Given the description of an element on the screen output the (x, y) to click on. 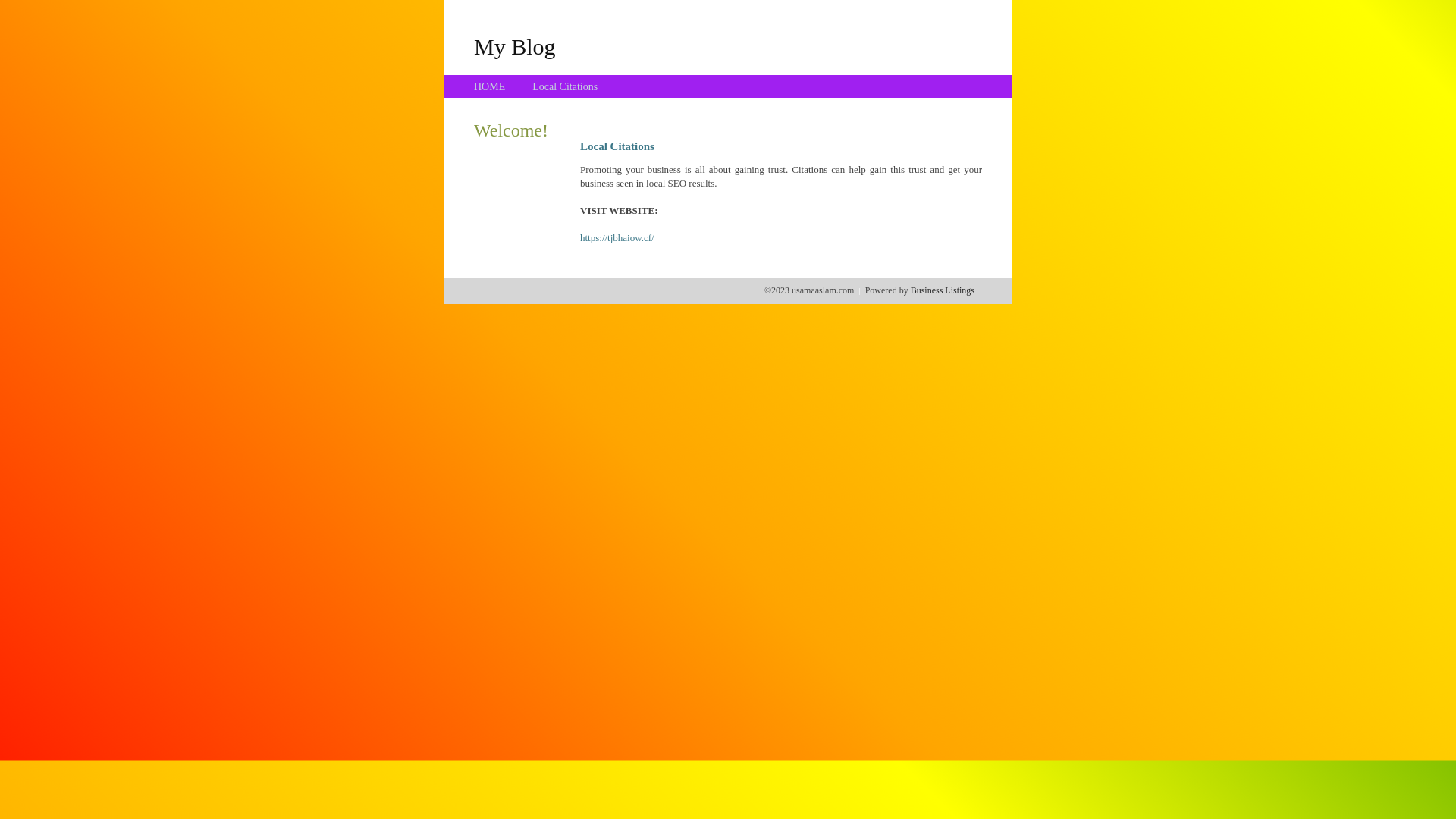
HOME Element type: text (489, 86)
Business Listings Element type: text (942, 290)
Local Citations Element type: text (564, 86)
My Blog Element type: text (514, 46)
https://tjbhaiow.cf/ Element type: text (617, 237)
